Given the description of an element on the screen output the (x, y) to click on. 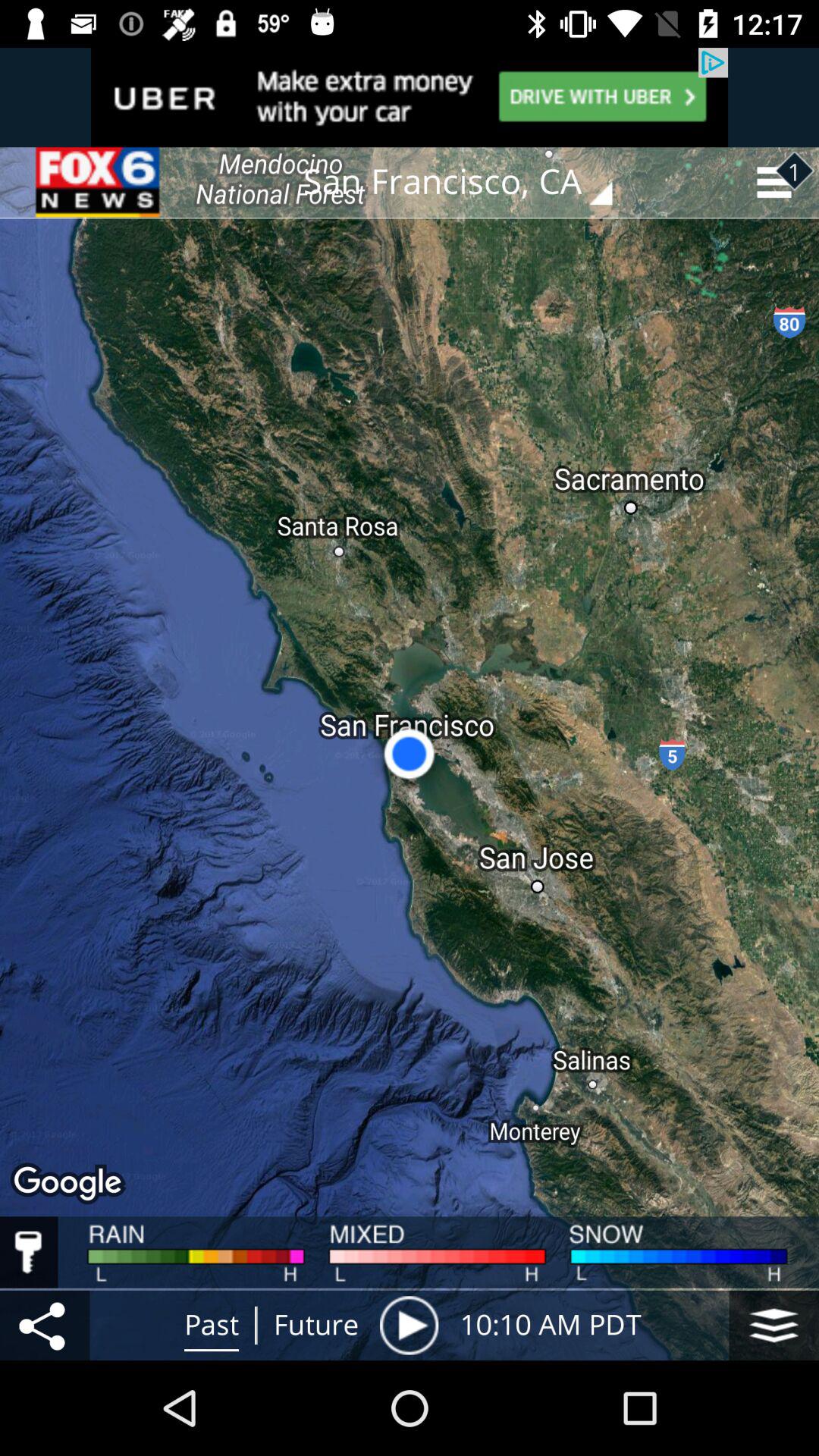
launch item to the right of 10 10 am icon (774, 1325)
